Given the description of an element on the screen output the (x, y) to click on. 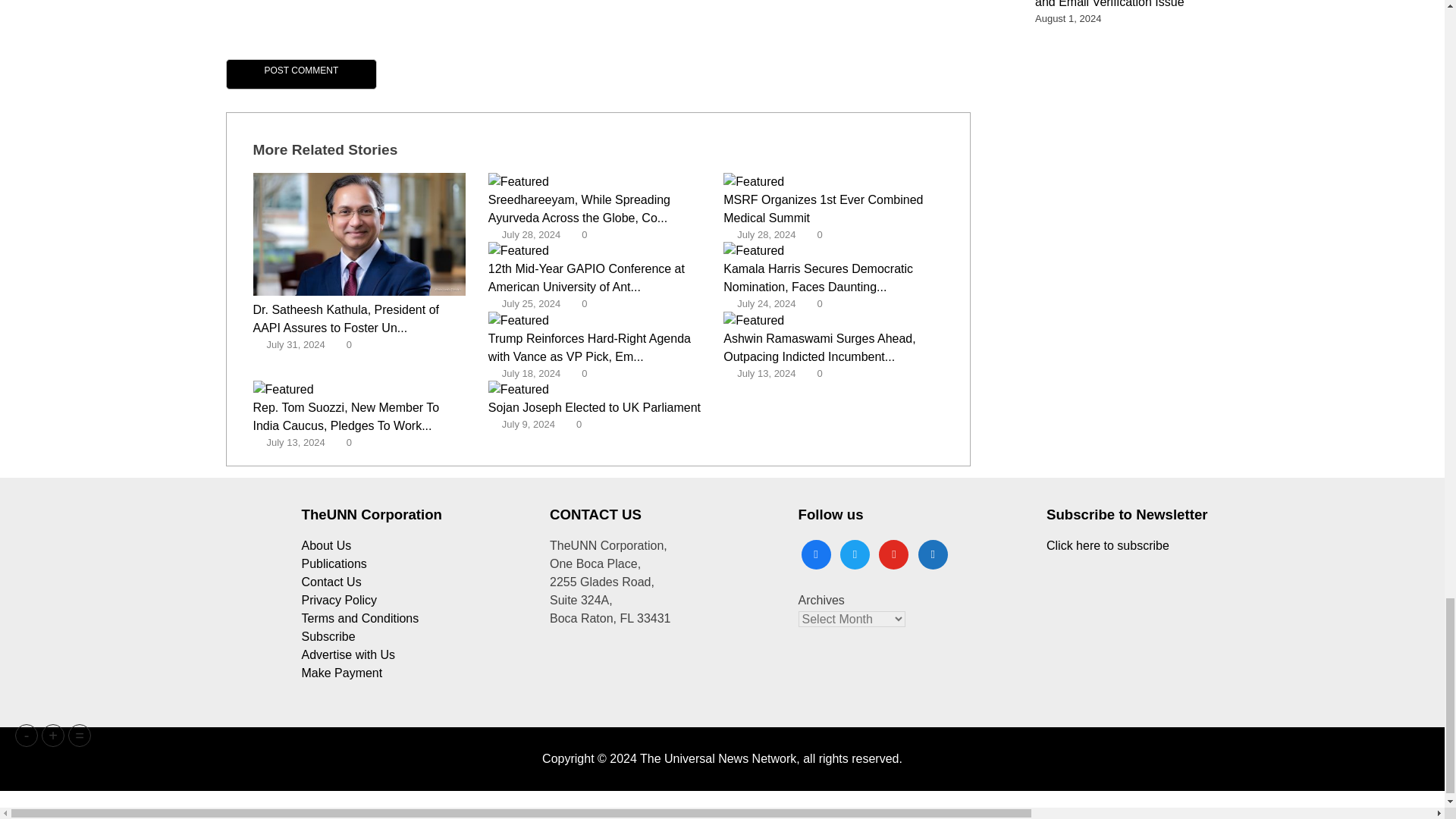
Post Comment (301, 73)
Default Label (893, 553)
Twitter (854, 553)
Default Label (932, 553)
Facebook (814, 553)
